Given the description of an element on the screen output the (x, y) to click on. 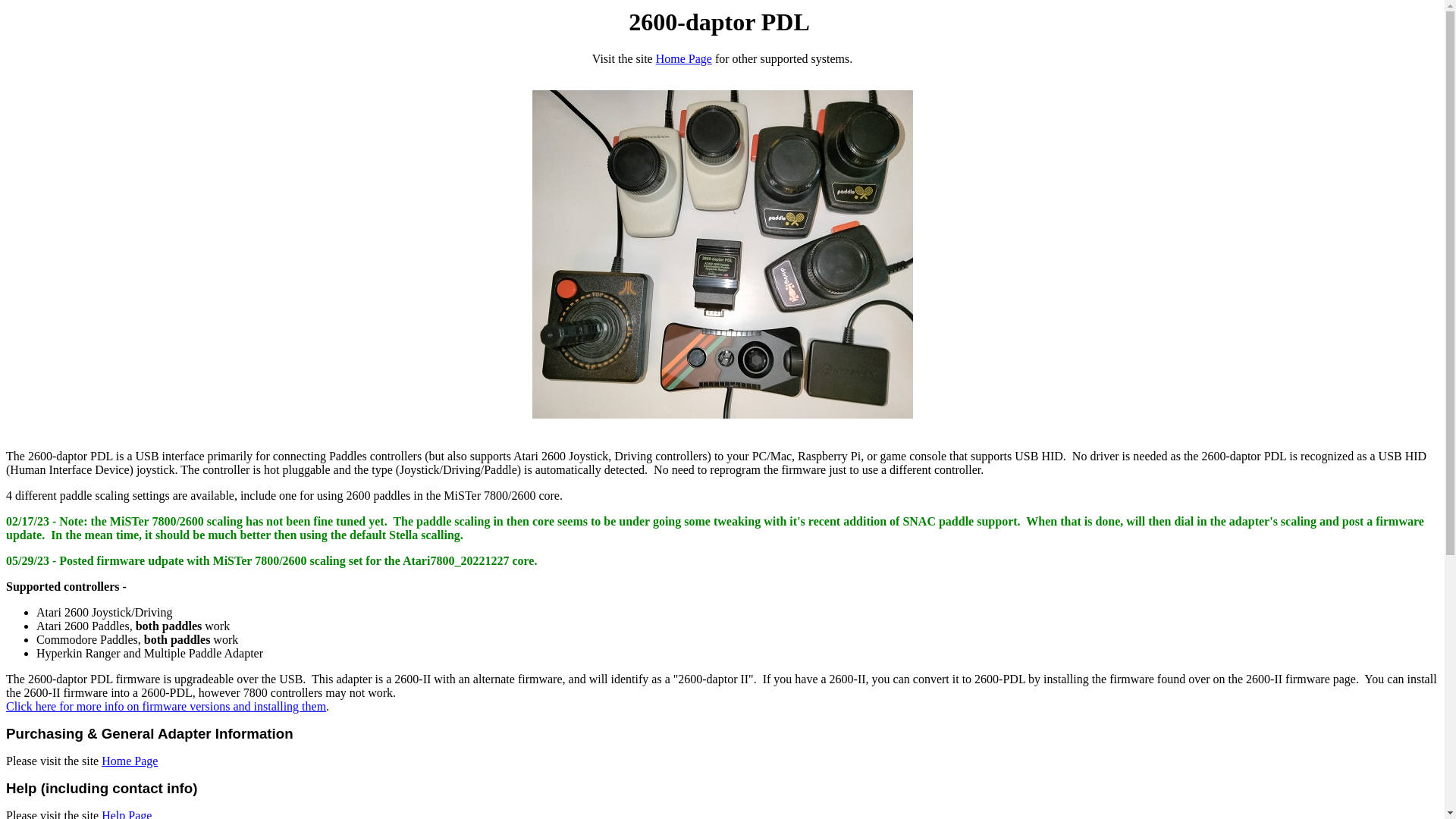
Home Page Element type: text (683, 58)
Home Page Element type: text (129, 760)
